Given the description of an element on the screen output the (x, y) to click on. 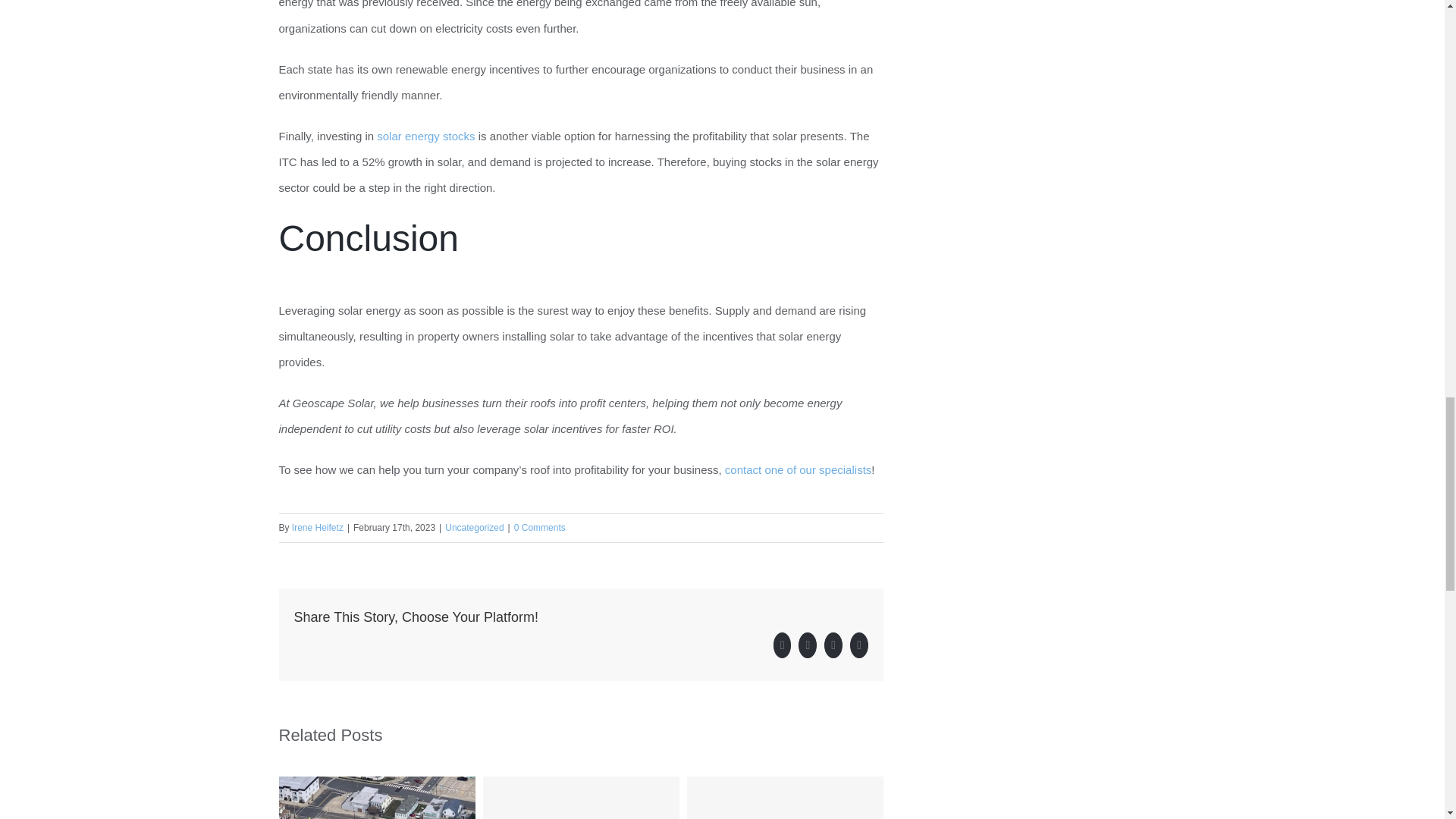
Posts by Irene Heifetz (317, 527)
